Given the description of an element on the screen output the (x, y) to click on. 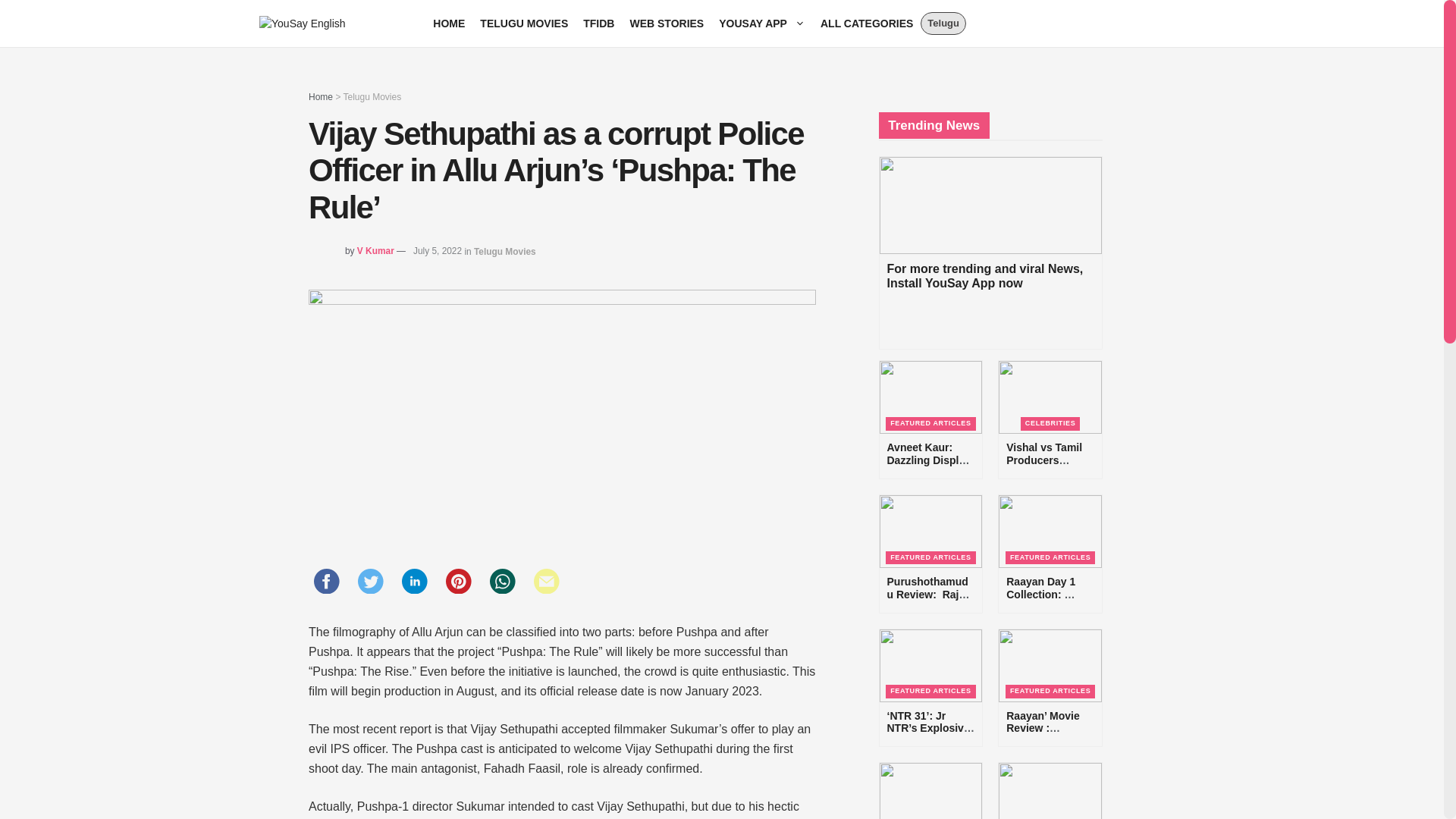
Telugu (943, 23)
YOUSAY APP (1049, 790)
ALL CATEGORIES (761, 22)
WEB STORIES (866, 22)
For more trending and viral News, Install YouSay App now (666, 22)
TELUGU MOVIES (989, 252)
